Given the description of an element on the screen output the (x, y) to click on. 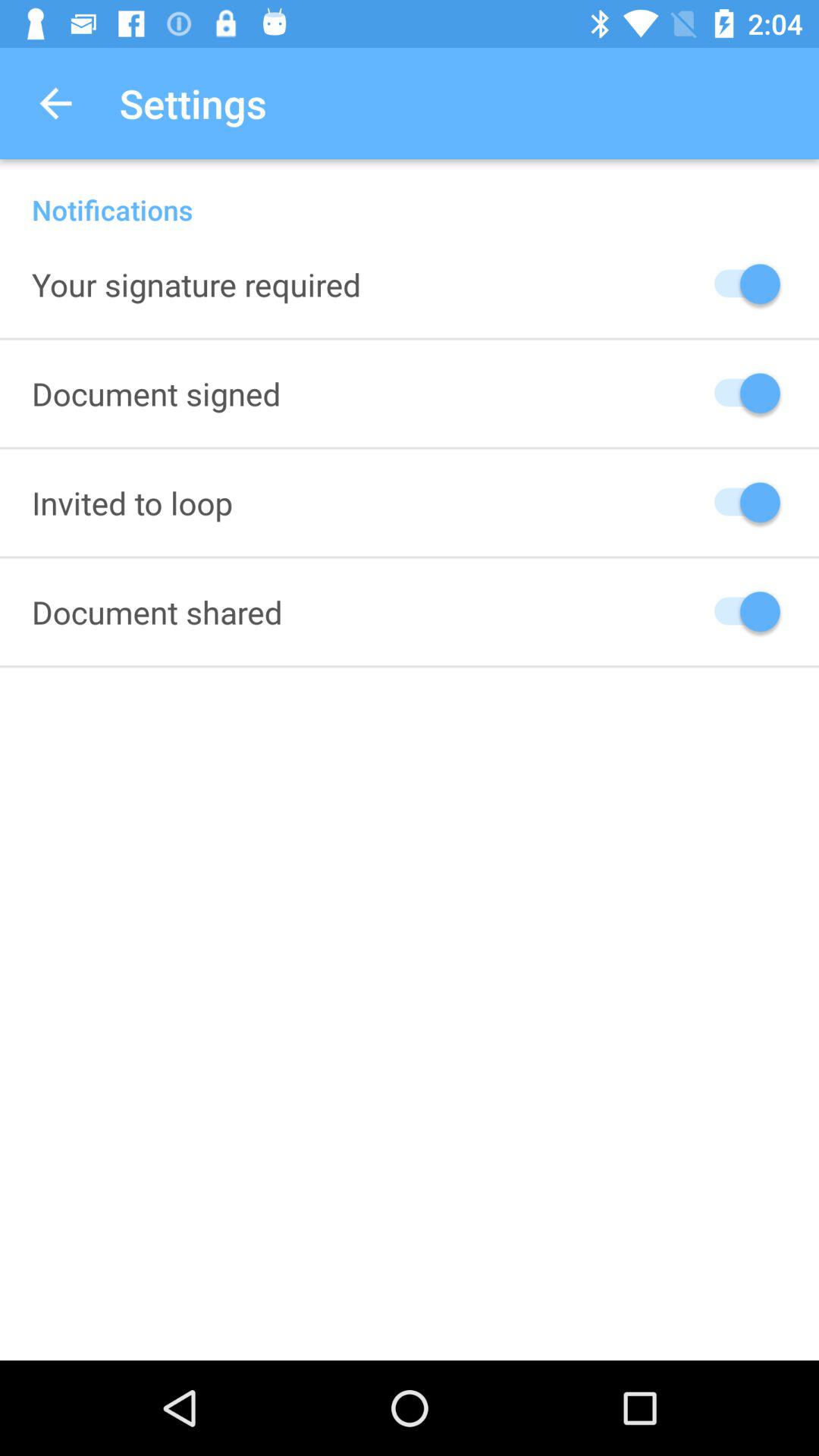
turn off the item above the invited to loop icon (155, 393)
